Given the description of an element on the screen output the (x, y) to click on. 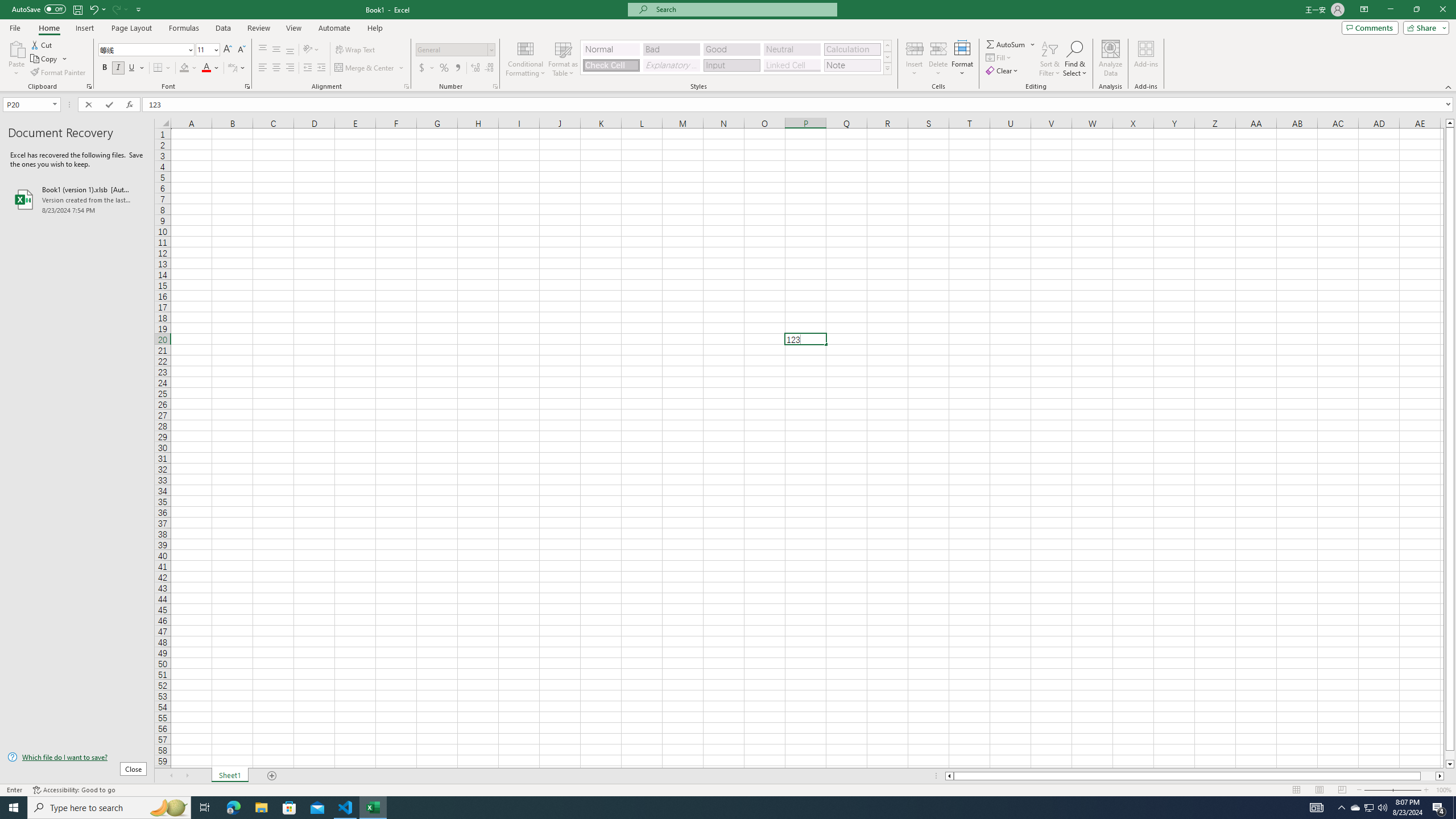
Paste (16, 58)
